Given the description of an element on the screen output the (x, y) to click on. 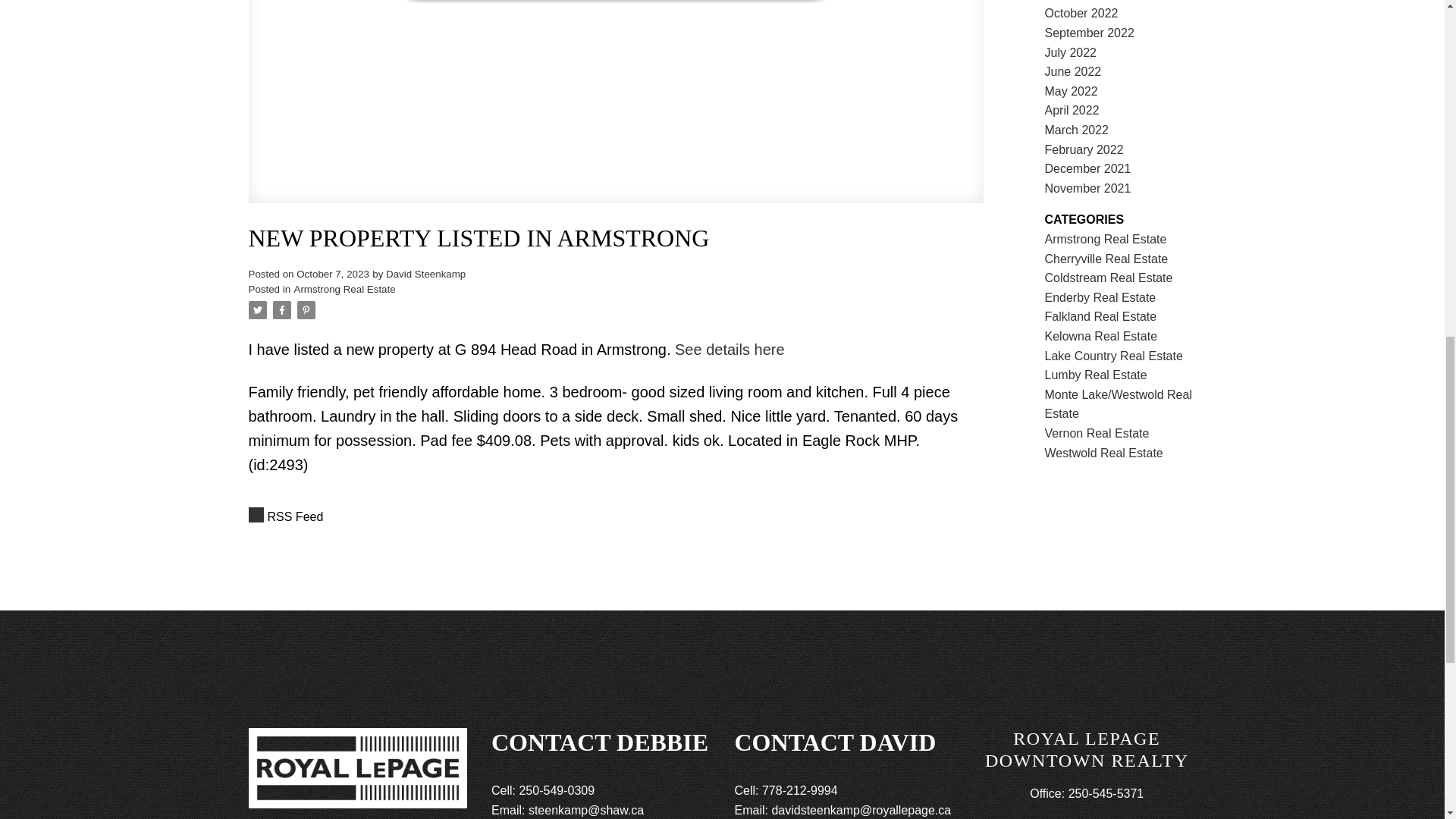
RSS (616, 516)
See details here (729, 349)
Armstrong Real Estate (345, 288)
